Given the description of an element on the screen output the (x, y) to click on. 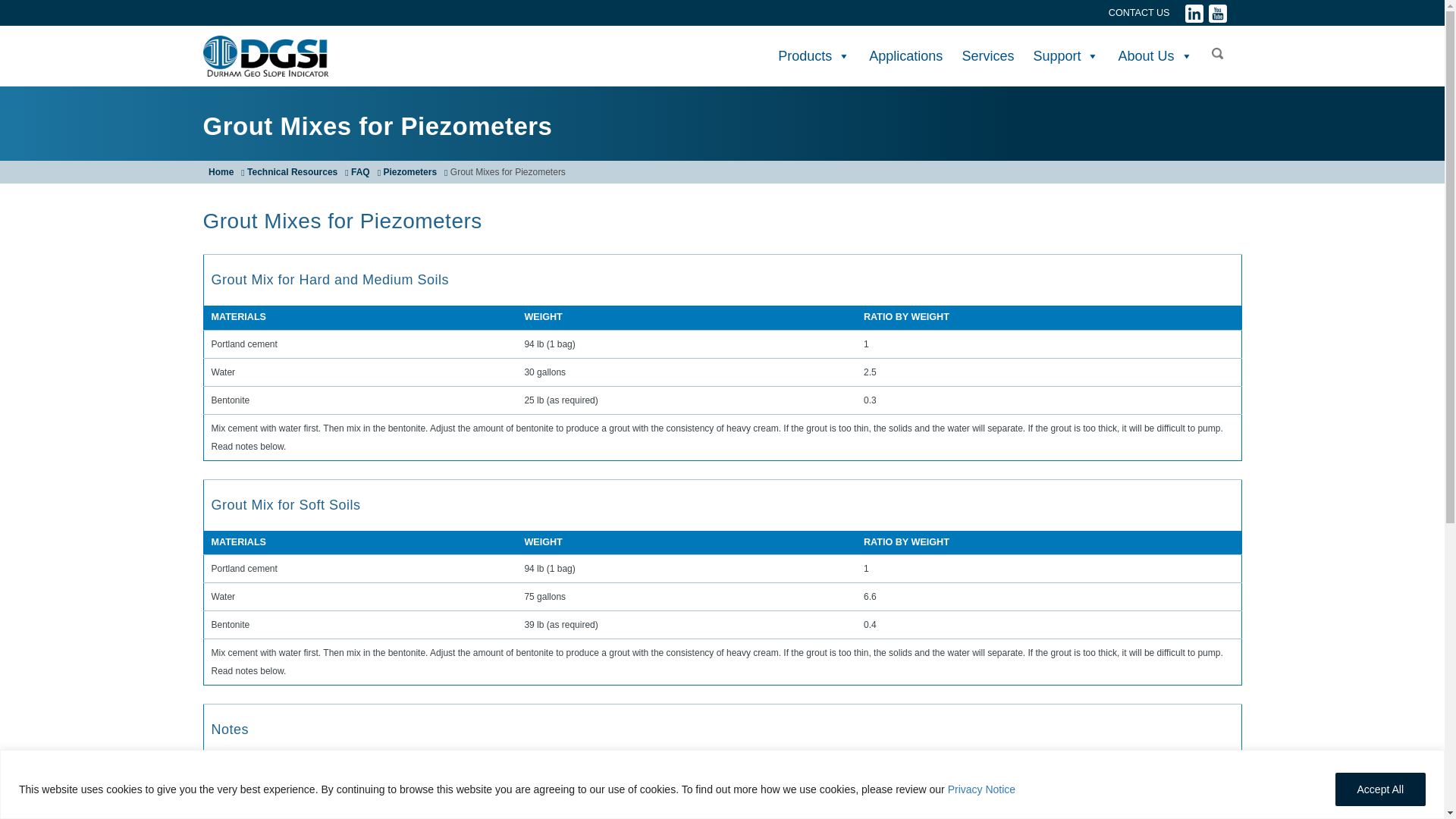
Accept All (1380, 788)
DGSI -  (266, 56)
CONTACT US (1139, 12)
Privacy Notice (980, 788)
Products (813, 55)
